Given the description of an element on the screen output the (x, y) to click on. 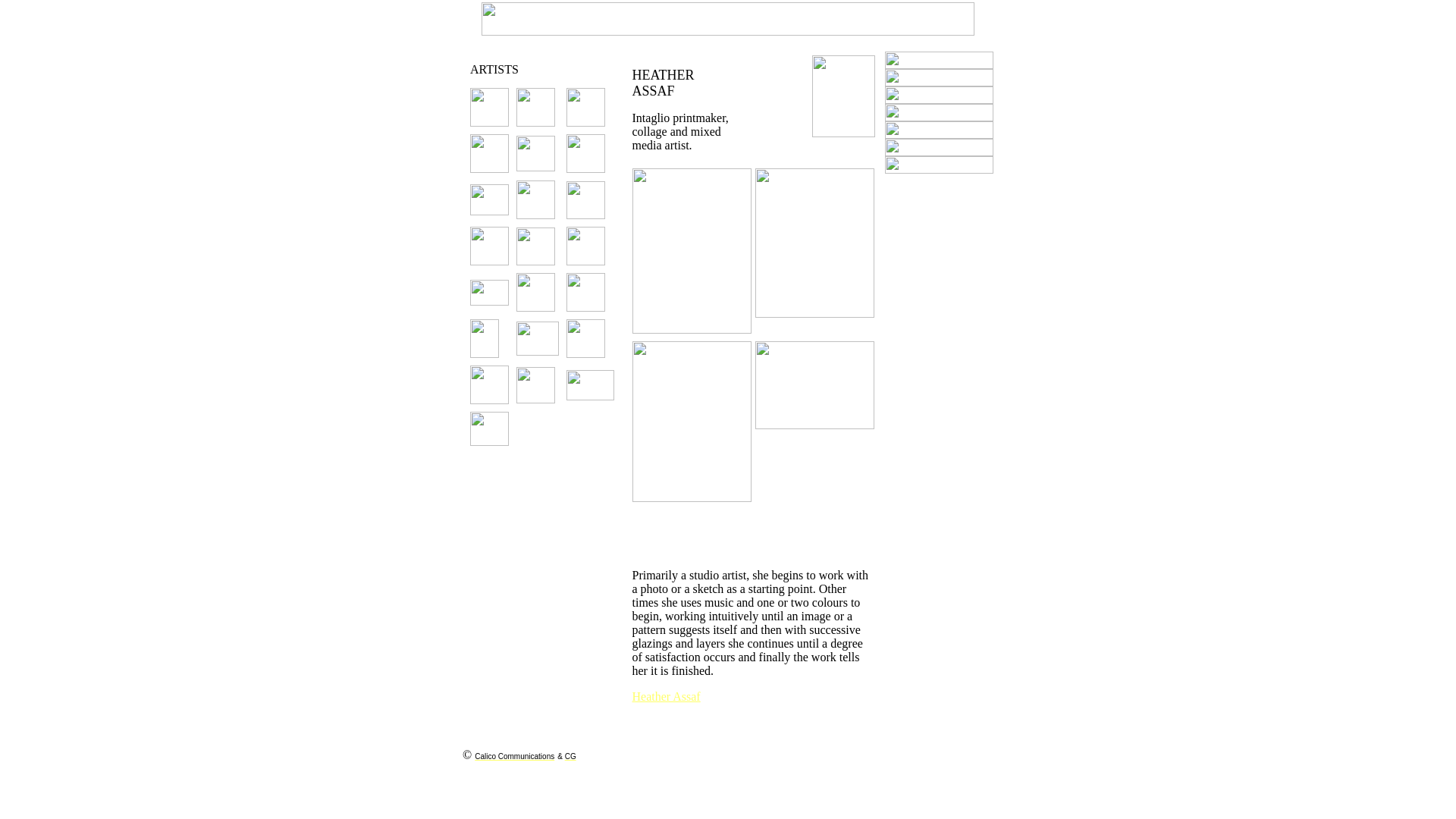
Heather Assaf Element type: text (666, 696)
Calico Communications Element type: text (514, 754)
CG Element type: text (570, 754)
